Given the description of an element on the screen output the (x, y) to click on. 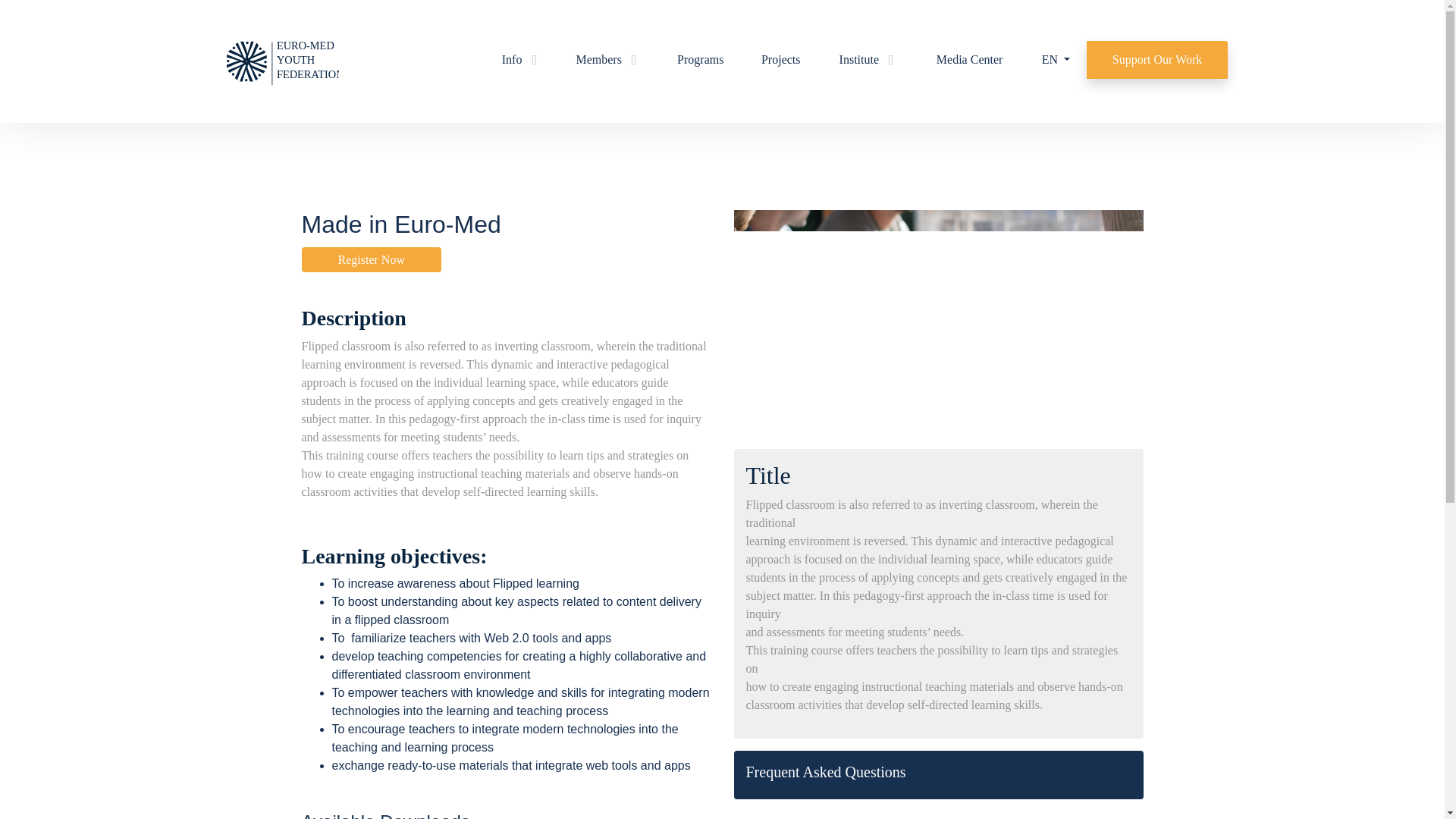
Members (606, 59)
Register Now (371, 259)
Frequent Asked Questions (938, 771)
Institute (866, 59)
Support Our Work (1156, 59)
Projects (780, 59)
Media Center (969, 59)
EN (1056, 59)
Info (518, 59)
Programs (700, 59)
